Given the description of an element on the screen output the (x, y) to click on. 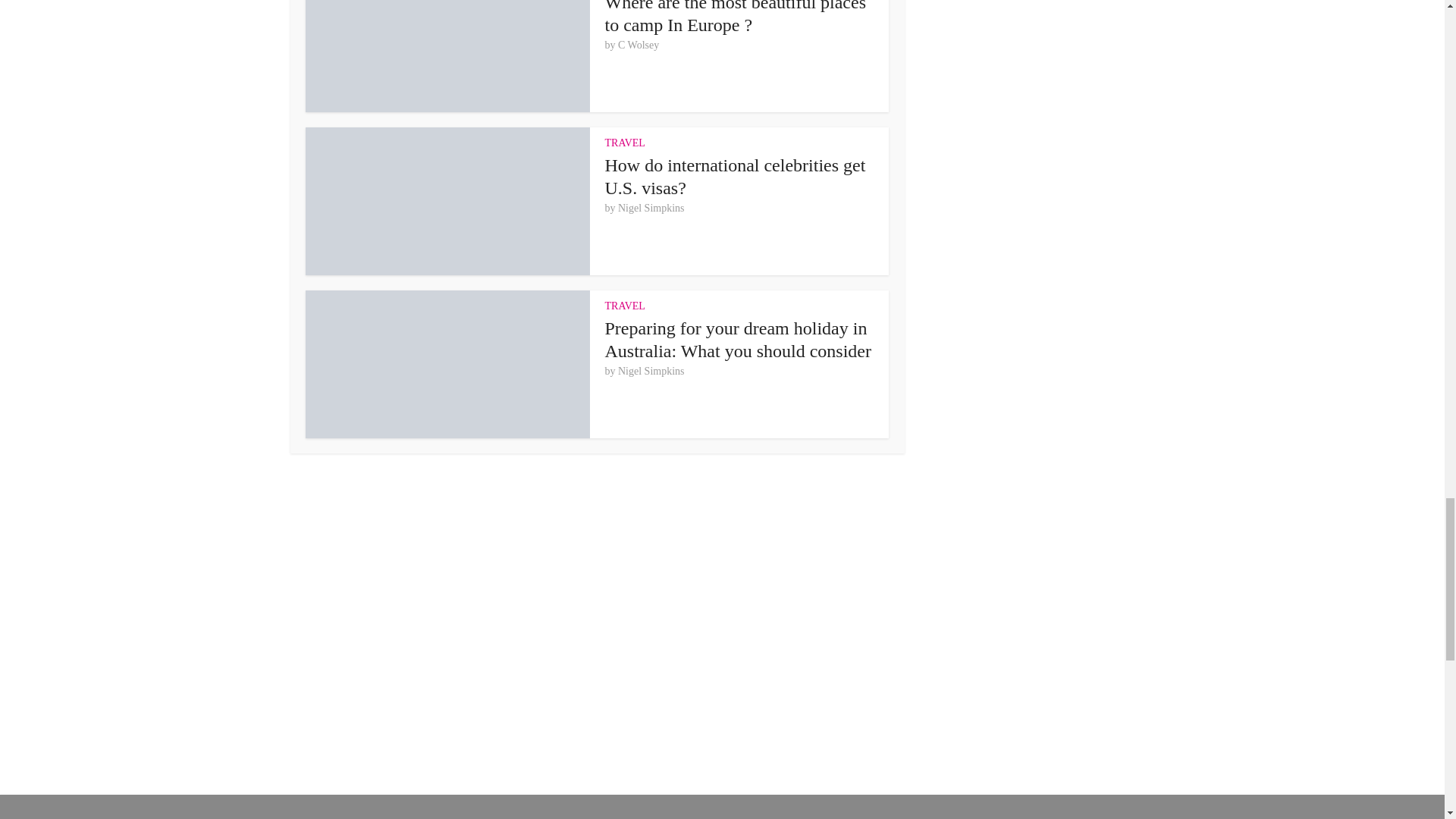
Where are the most beautiful places to camp In Europe ? (735, 17)
How do international celebrities get U.S. visas? (735, 176)
